Given the description of an element on the screen output the (x, y) to click on. 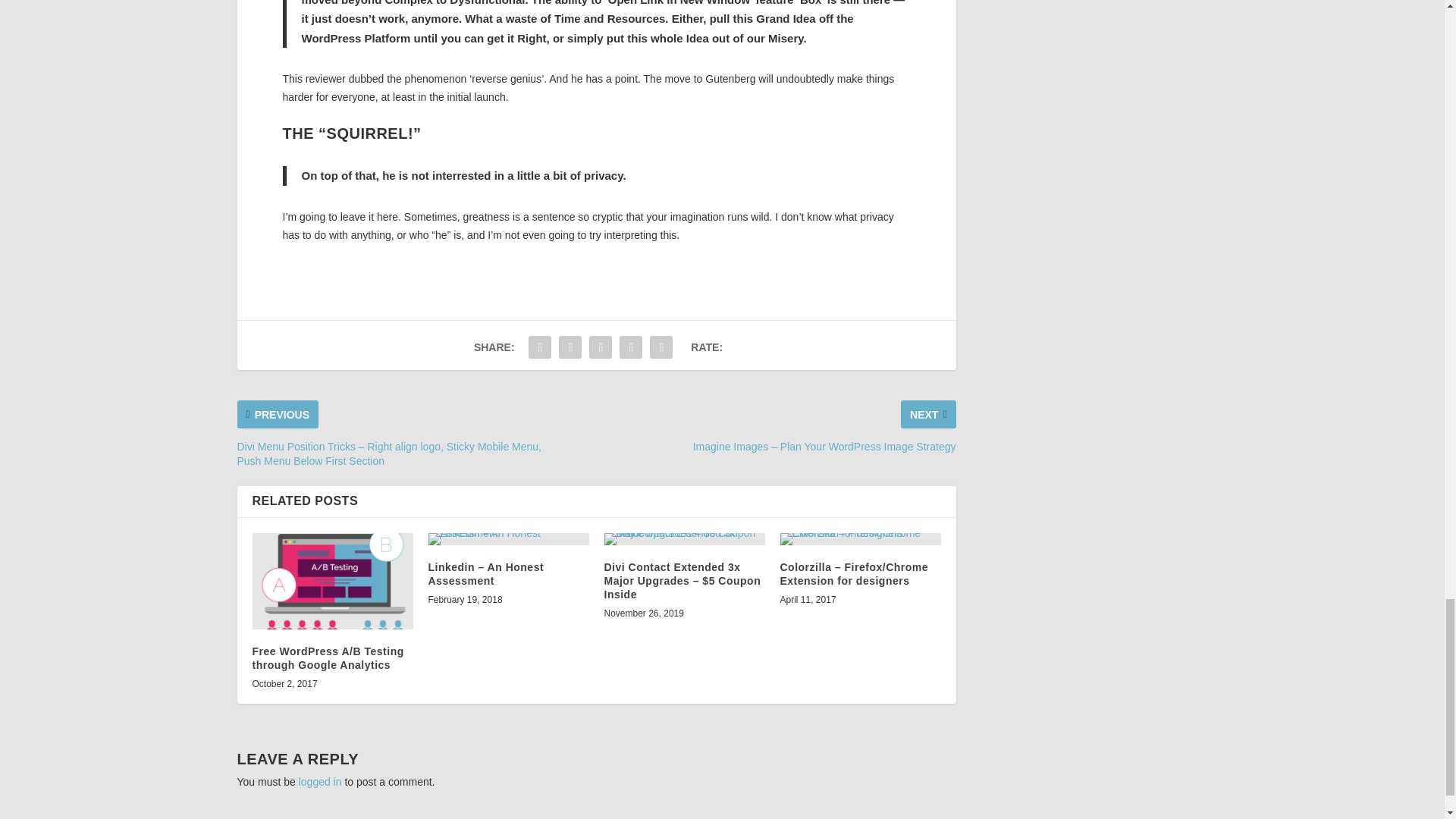
Share "10 Great Gutenberg Reviews" via Email (661, 347)
Share "10 Great Gutenberg Reviews" via Twitter (569, 347)
Share "10 Great Gutenberg Reviews" via LinkedIn (630, 347)
Share "10 Great Gutenberg Reviews" via Pinterest (600, 347)
logged in (320, 781)
Share "10 Great Gutenberg Reviews" via Facebook (539, 347)
